Given the description of an element on the screen output the (x, y) to click on. 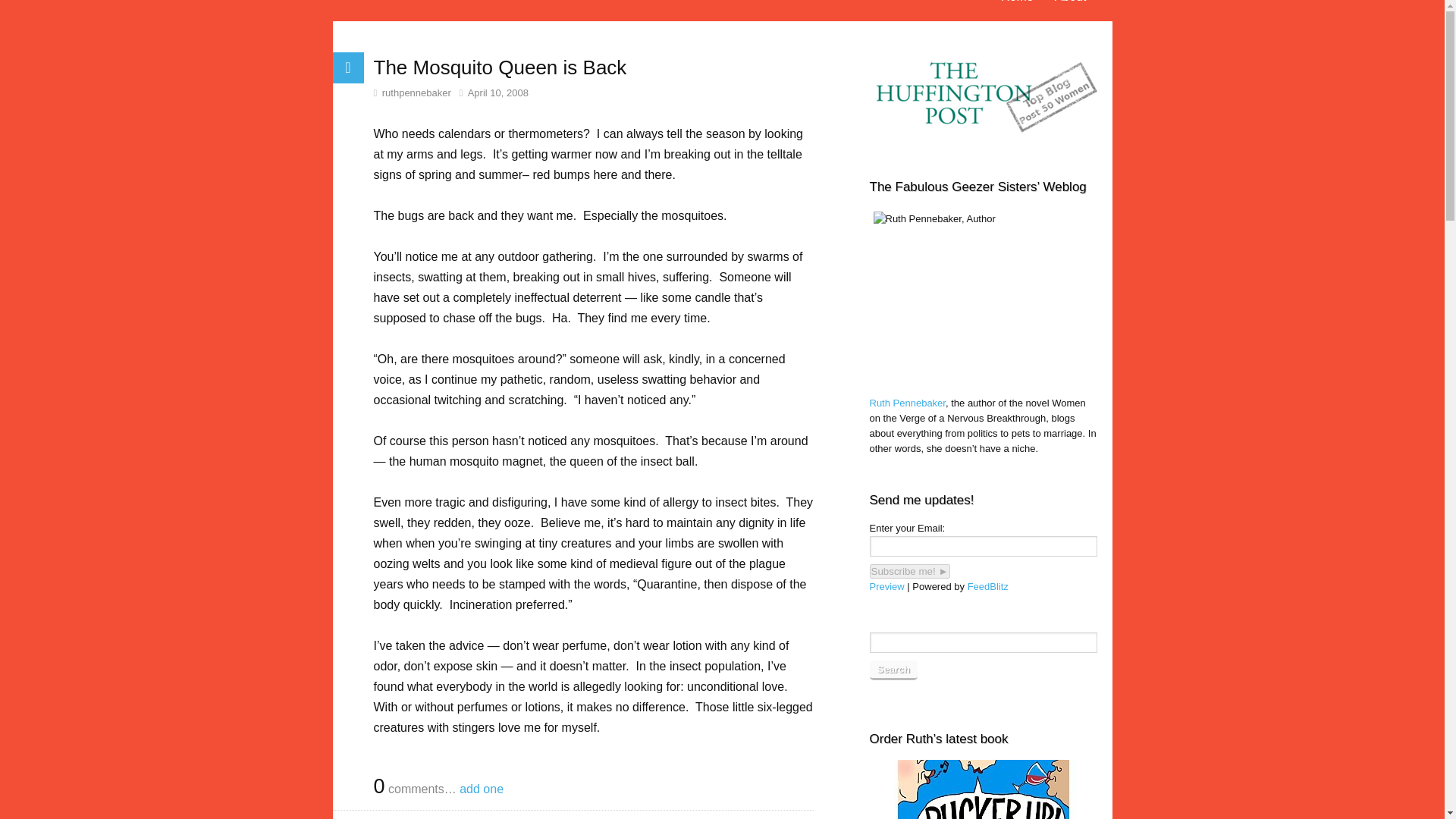
add one (481, 788)
HuffPo Top Blog (982, 97)
About (1070, 5)
FeedBlitz (988, 586)
Home (1016, 5)
Preview (886, 586)
Search (893, 670)
Ruth Pennebaker (906, 402)
Search (893, 670)
2008-04-10 (492, 92)
